Given the description of an element on the screen output the (x, y) to click on. 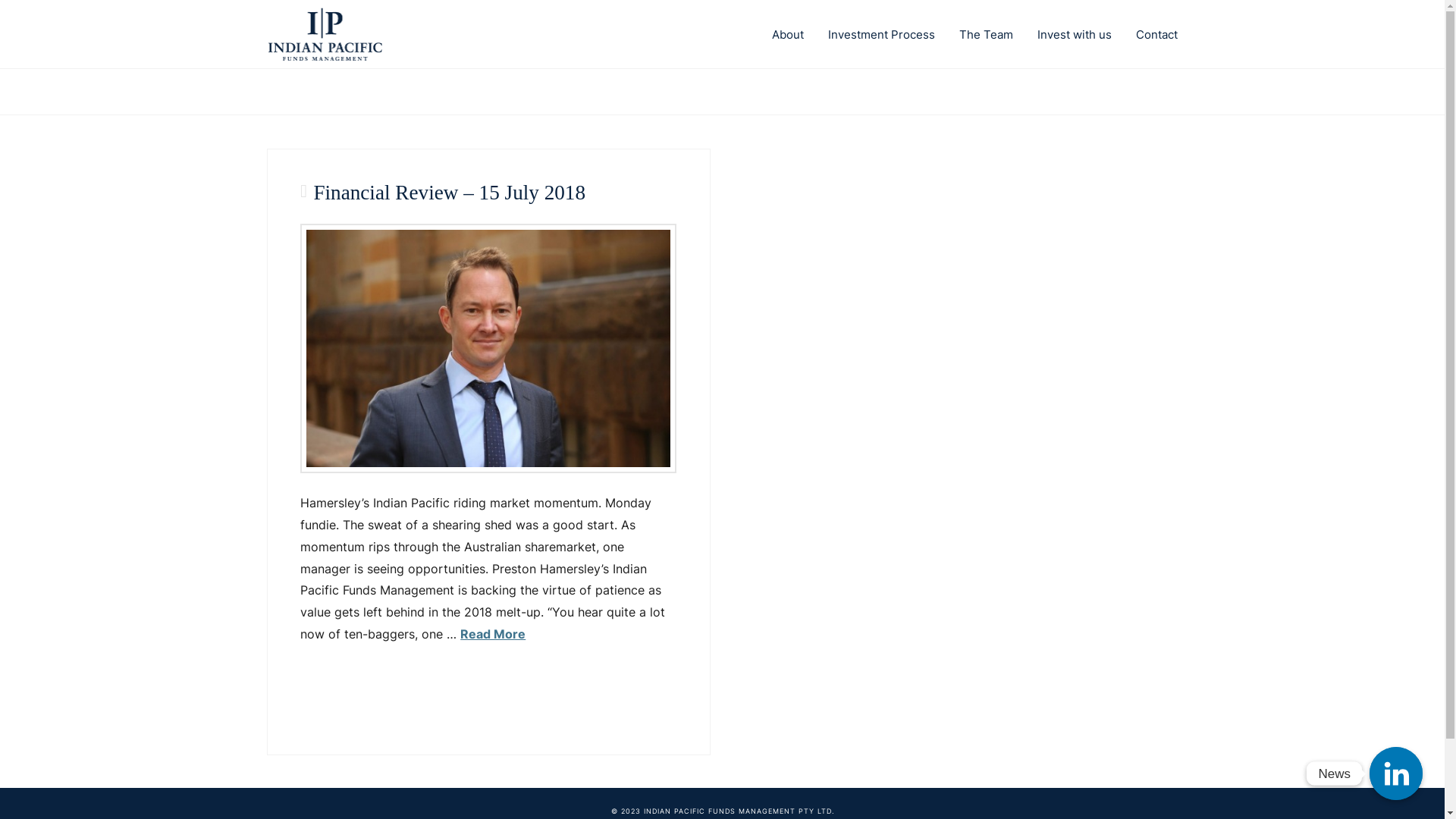
Read More Element type: text (492, 633)
News Element type: text (1395, 773)
Contact Element type: text (1150, 34)
Invest with us Element type: text (1074, 34)
The Team Element type: text (985, 34)
About Element type: text (787, 34)
Investment Process Element type: text (881, 34)
